Given the description of an element on the screen output the (x, y) to click on. 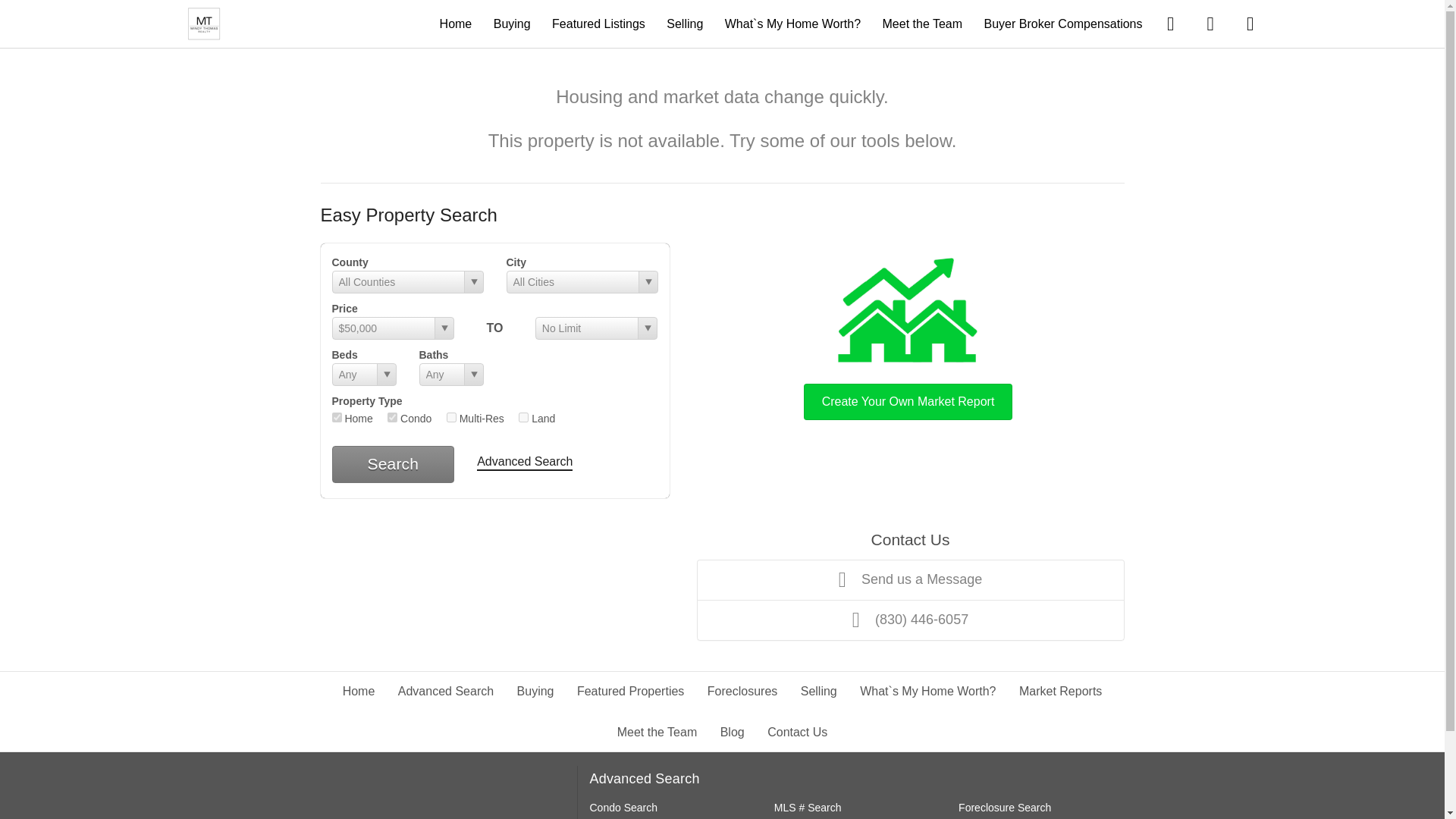
con (392, 417)
Create Your Own Market Report (907, 335)
Featured Properties (630, 690)
Selling (684, 23)
Blog (732, 731)
Search (392, 463)
Home (455, 23)
Send us a Message (909, 579)
Search (392, 463)
Buying (535, 690)
mul (451, 417)
Featured Listings (598, 23)
Buyer Broker Compensations (1063, 23)
Advanced Search (445, 690)
lnd (523, 417)
